Given the description of an element on the screen output the (x, y) to click on. 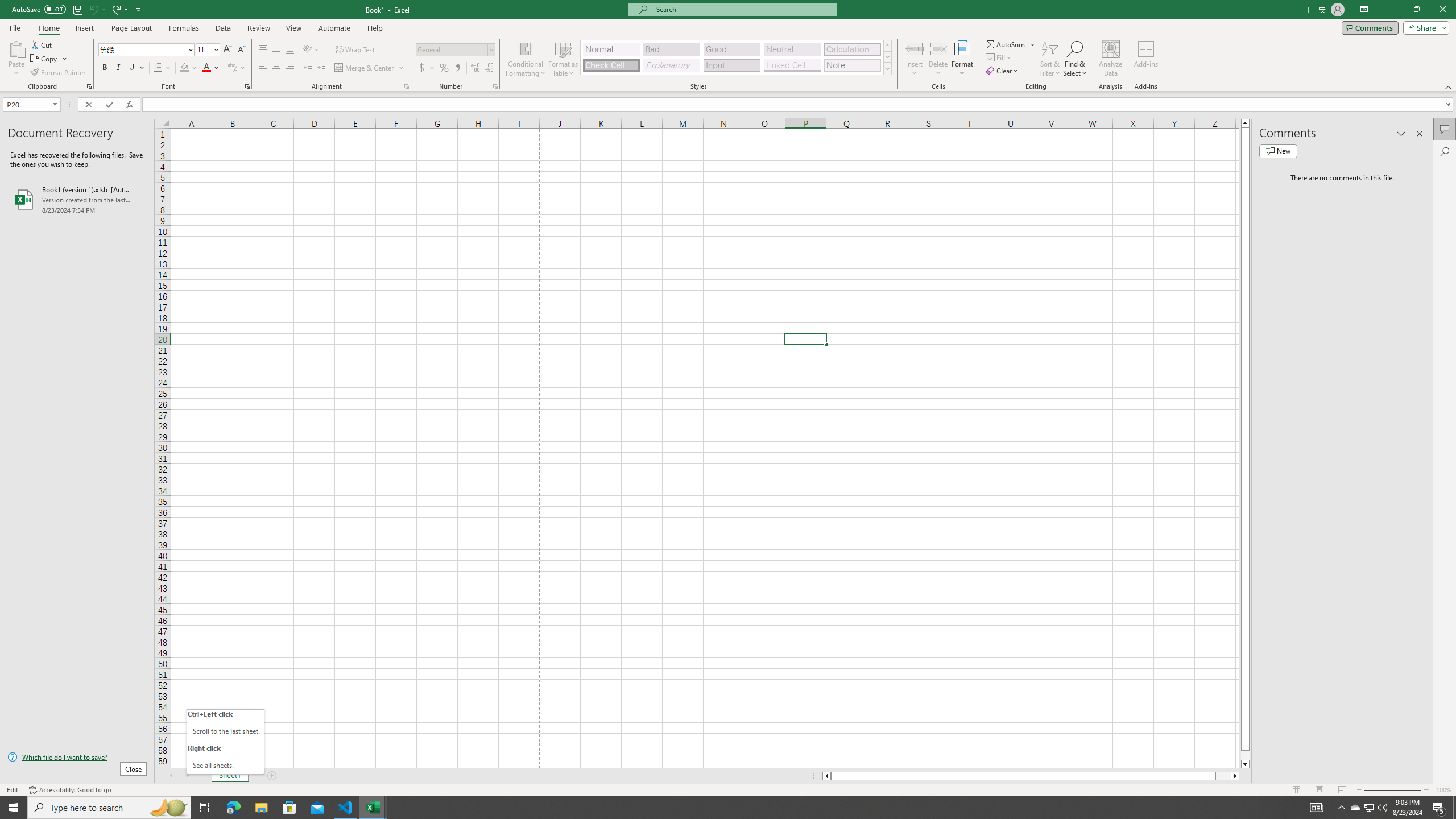
Check Cell (611, 65)
Italic (118, 67)
Accounting Number Format (422, 67)
Good (731, 49)
Merge & Center (365, 67)
Format (962, 58)
